Given the description of an element on the screen output the (x, y) to click on. 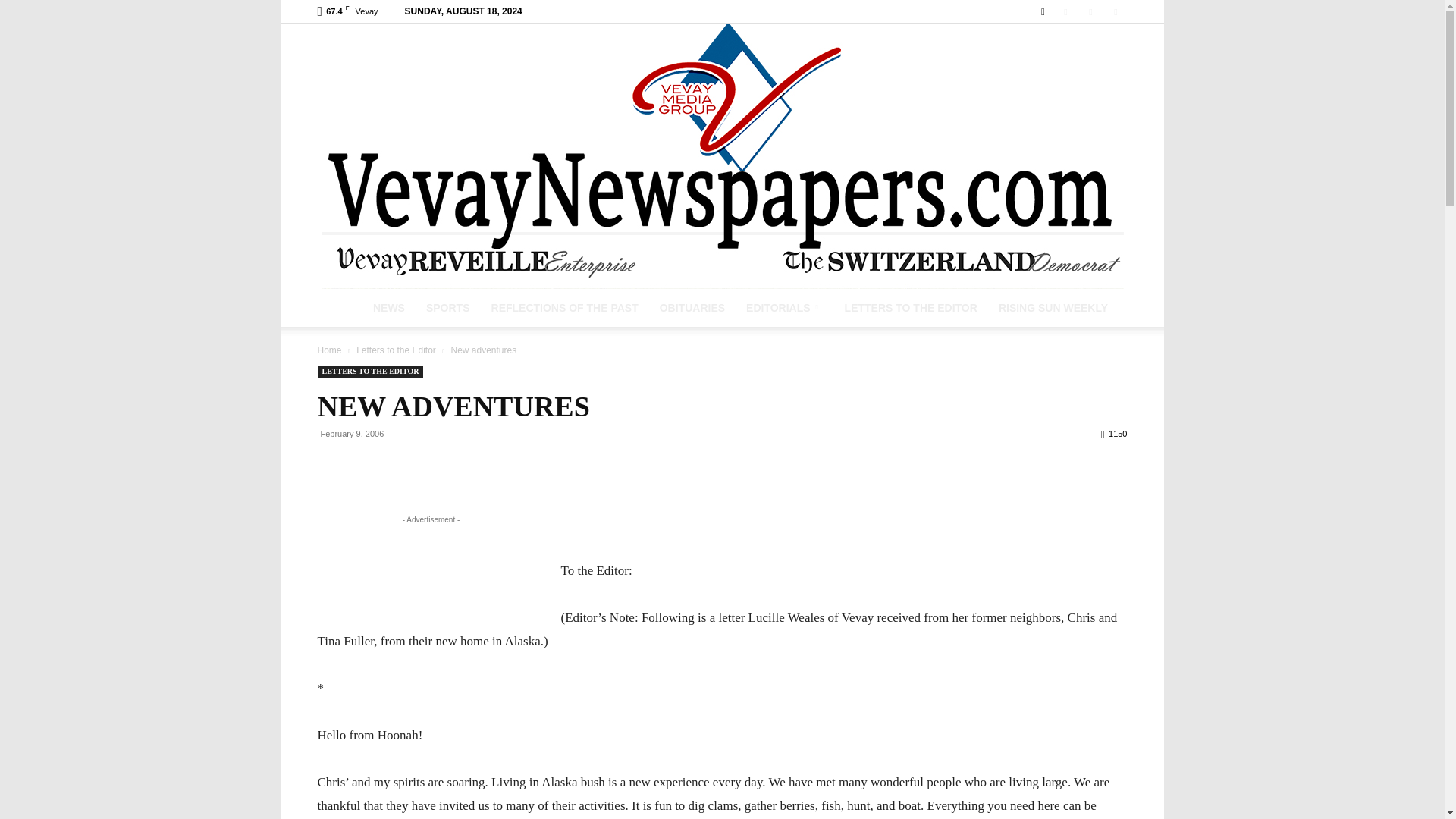
Facebook (1065, 11)
Youtube (1114, 11)
RISING SUN WEEKLY (1053, 307)
NEWS (388, 307)
OBITUARIES (692, 307)
SPORTS (447, 307)
EDITORIALS (784, 307)
View all posts in Letters to the Editor (395, 349)
REFLECTIONS OF THE PAST (564, 307)
Search (1080, 65)
